Given the description of an element on the screen output the (x, y) to click on. 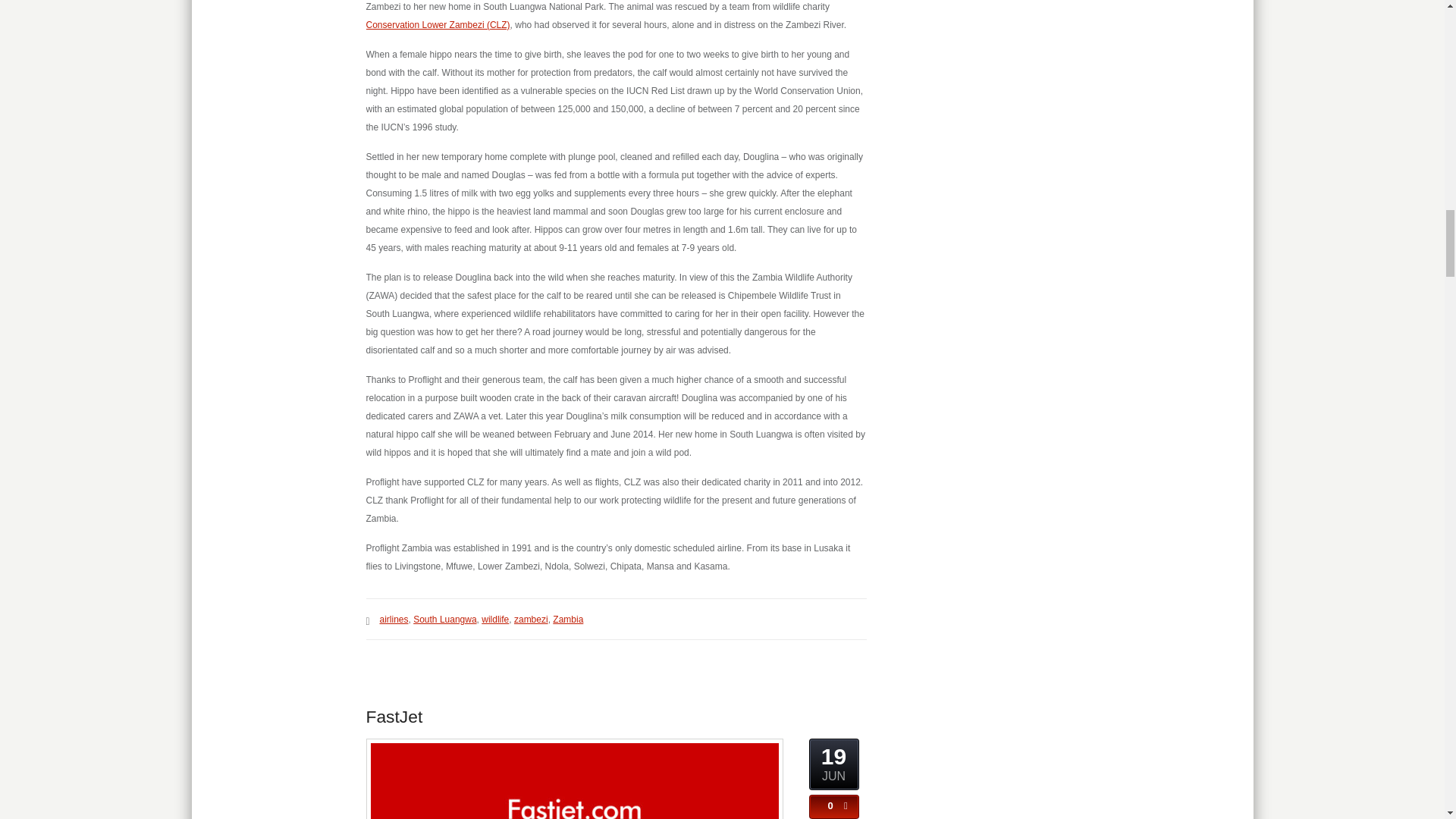
FastJet (393, 716)
